Given the description of an element on the screen output the (x, y) to click on. 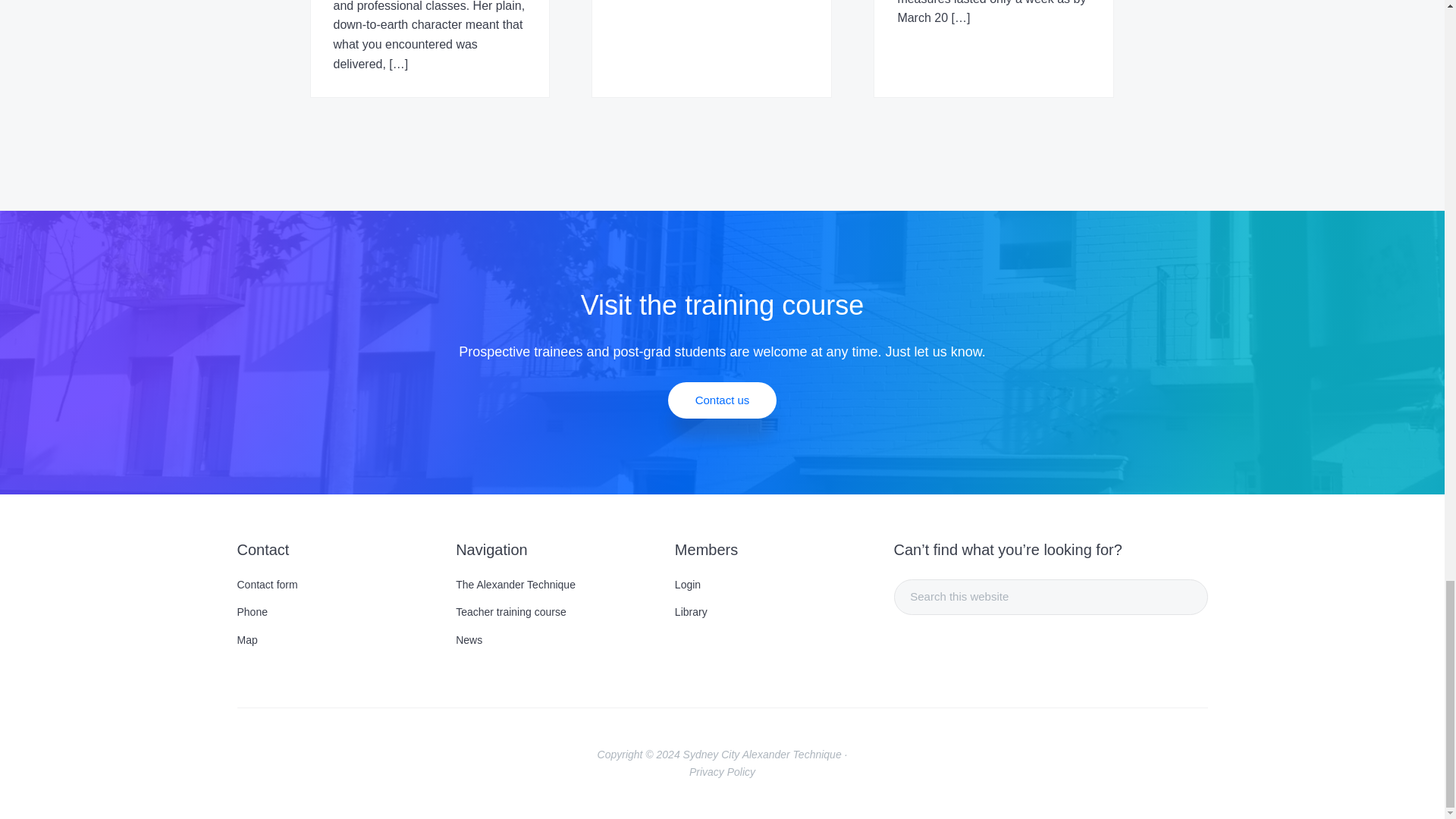
Login (772, 584)
Map (332, 639)
Teacher training course (552, 611)
Library (772, 611)
Phone (332, 611)
Privacy Policy (721, 771)
Contact form (332, 584)
News (552, 639)
The Alexander Technique (552, 584)
Contact us (722, 400)
